Given the description of an element on the screen output the (x, y) to click on. 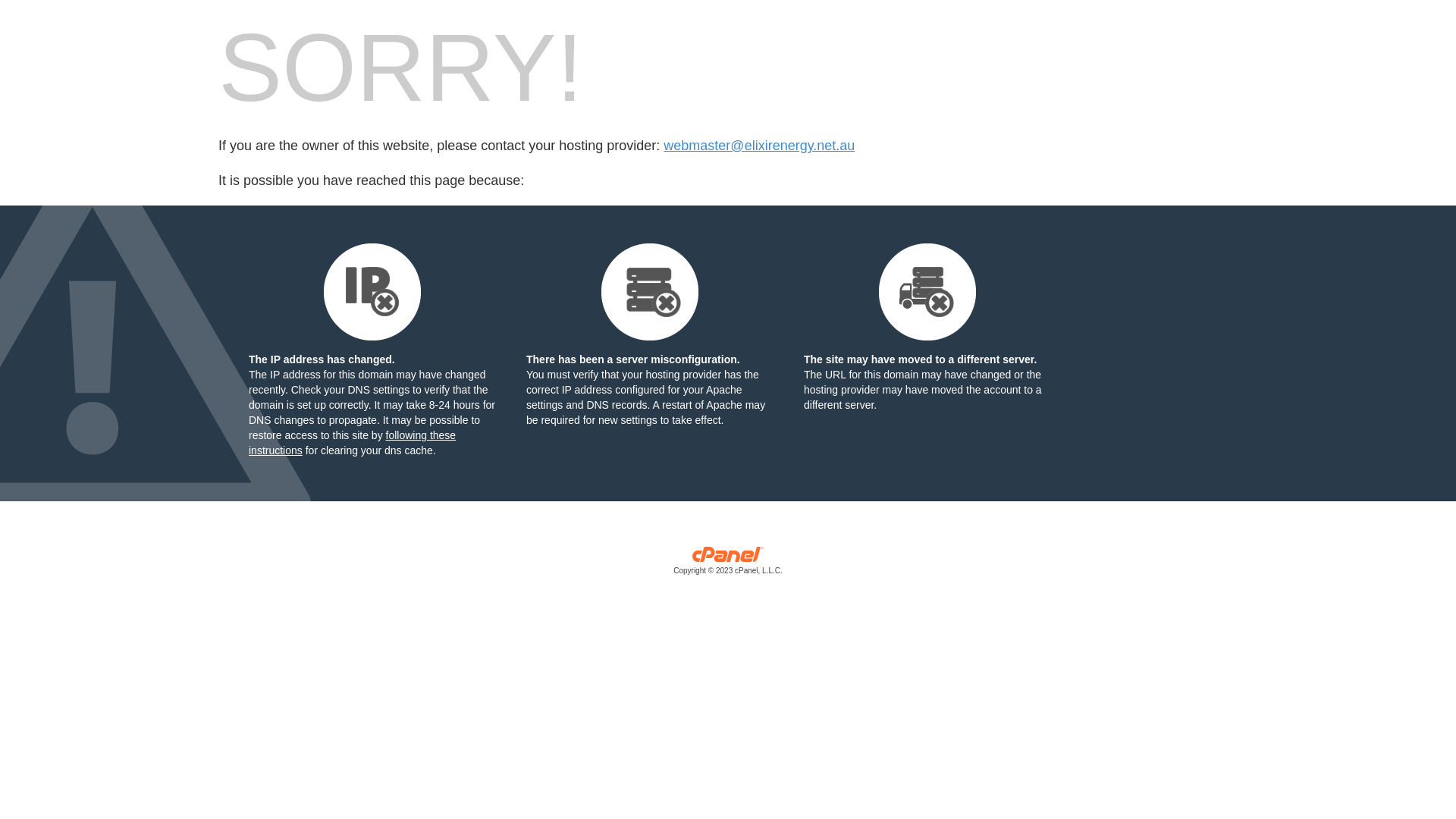
webmaster@elixirenergy.net.au Element type: text (758, 145)
following these instructions Element type: text (351, 442)
